Given the description of an element on the screen output the (x, y) to click on. 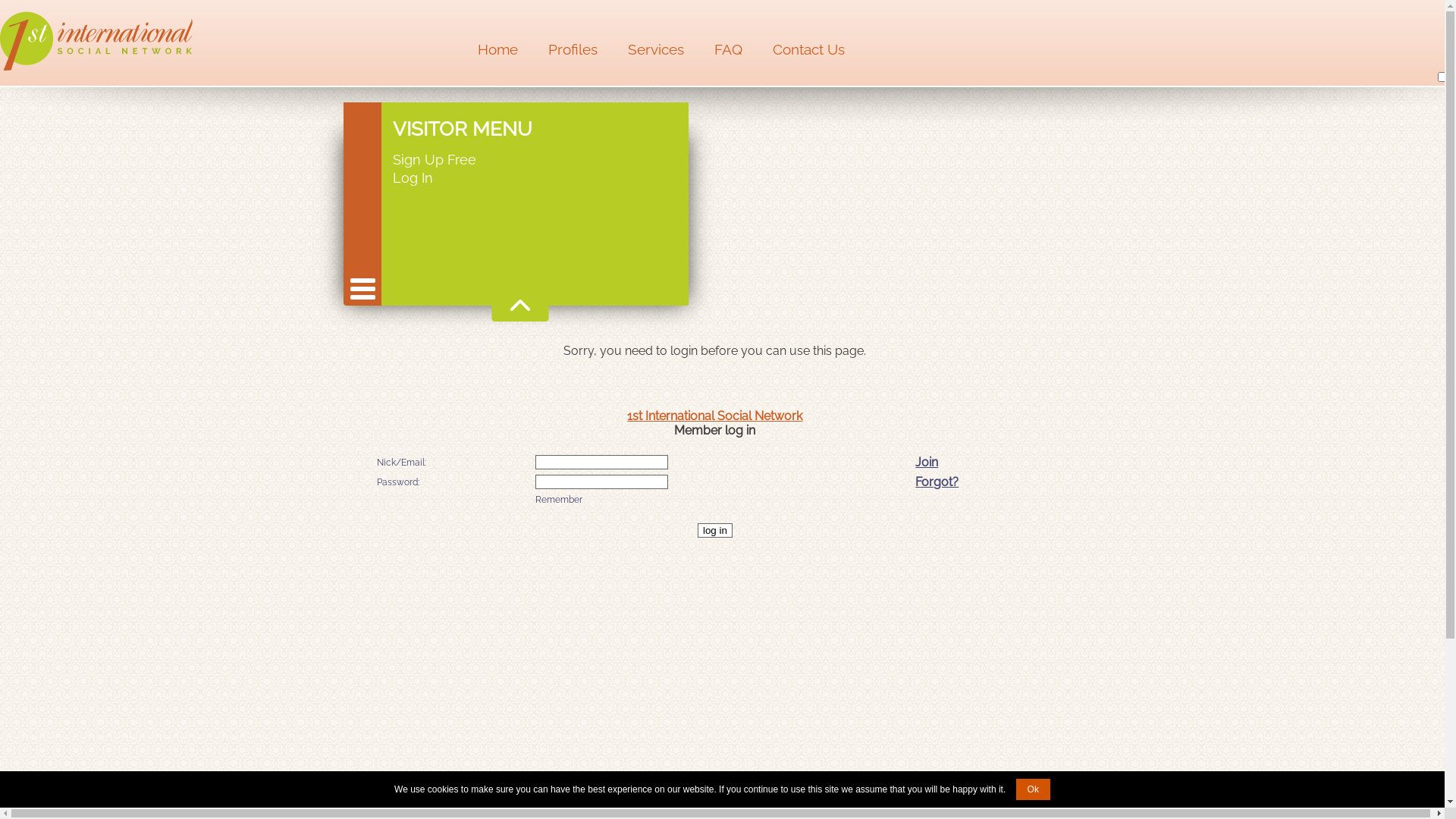
Join Element type: text (926, 462)
Contact Us Element type: text (808, 49)
Sign Up Free Element type: text (434, 159)
Services Element type: text (655, 49)
FAQ Element type: text (728, 49)
Log In Element type: text (434, 177)
Home Element type: text (497, 49)
Profiles Element type: text (572, 49)
log in Element type: text (714, 530)
1st International Social Network Element type: text (714, 415)
Forgot? Element type: text (936, 481)
Ok Element type: text (1033, 789)
